Given the description of an element on the screen output the (x, y) to click on. 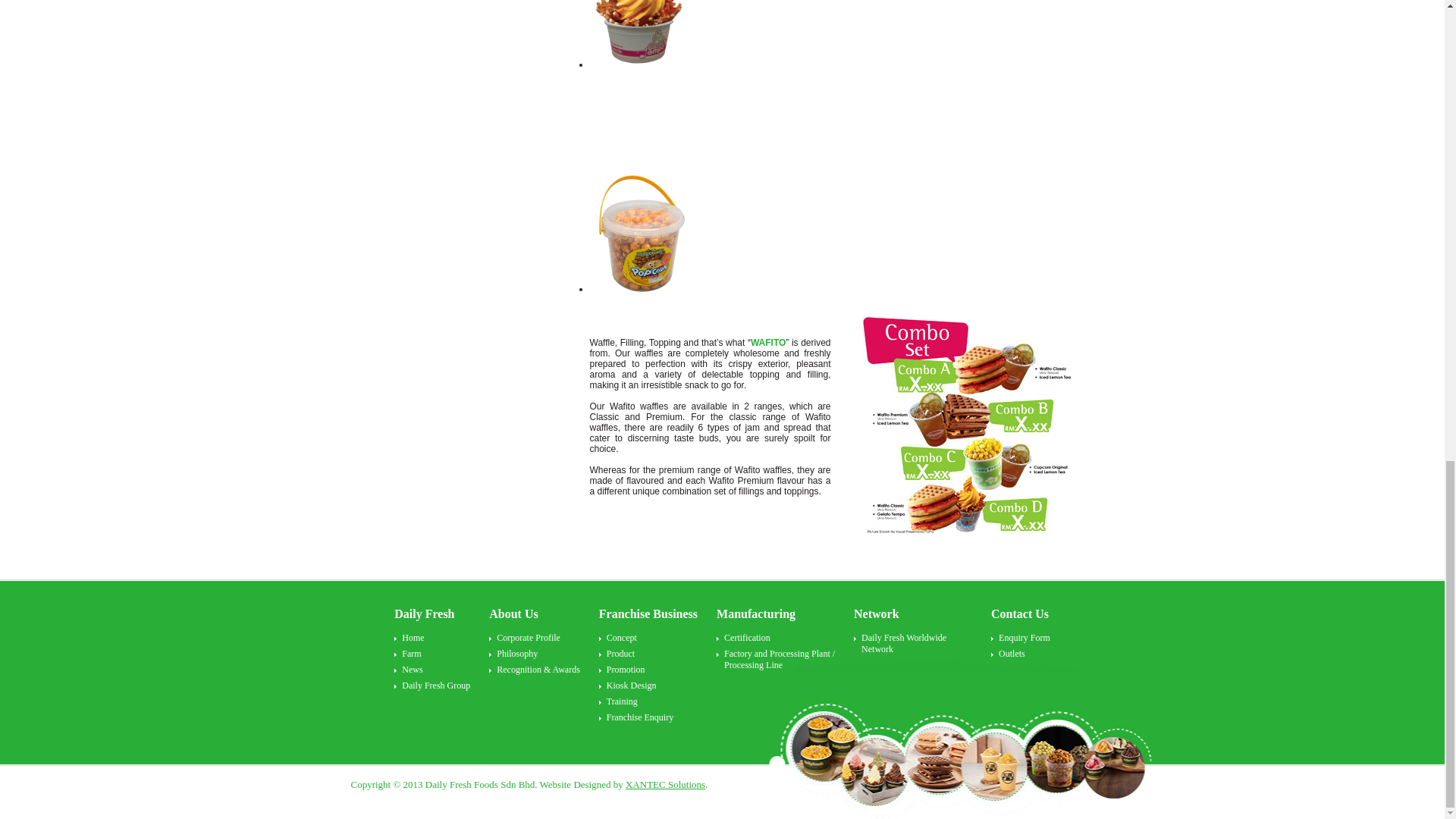
Home (441, 637)
